Given the description of an element on the screen output the (x, y) to click on. 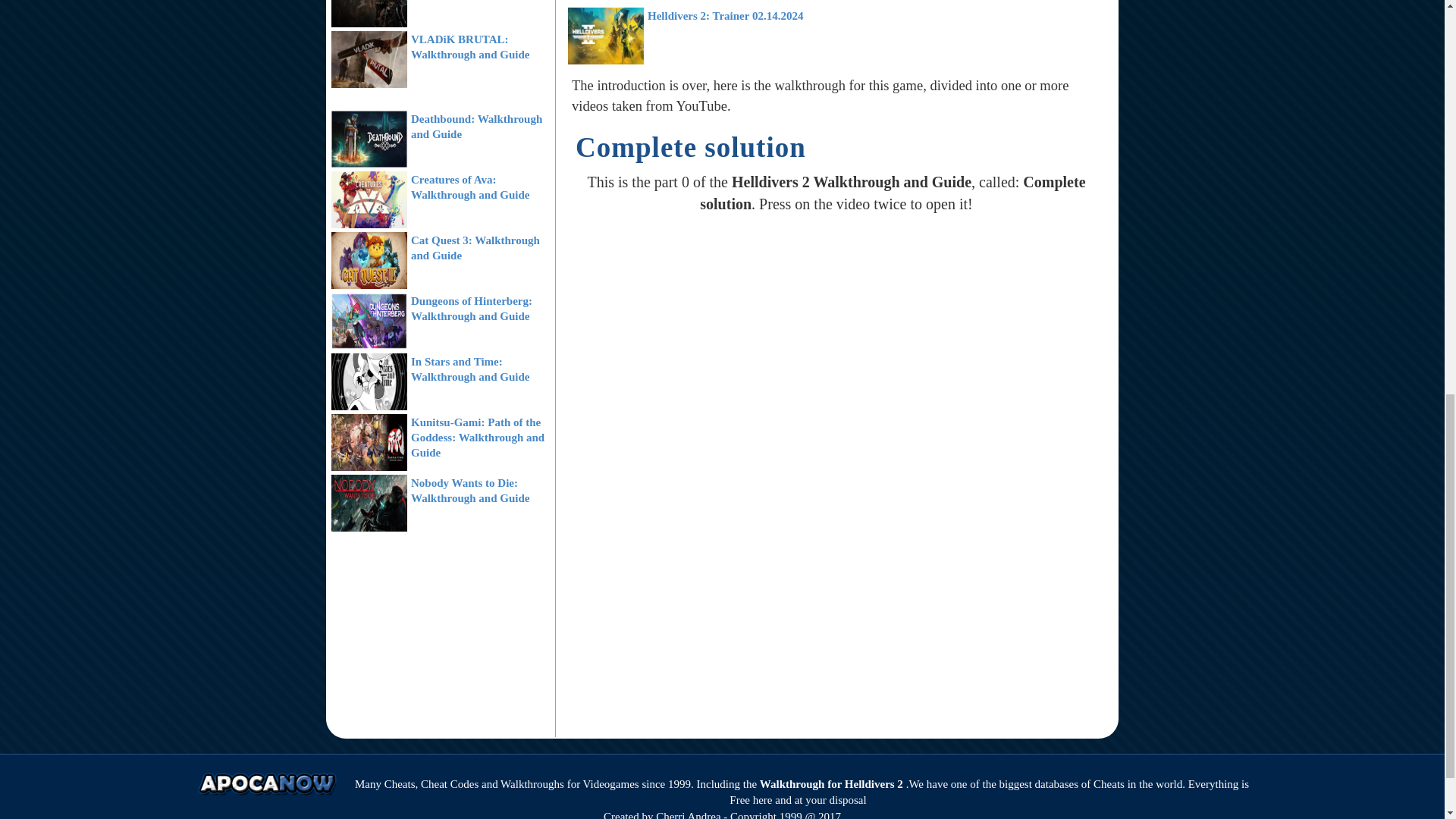
In Stars and Time: Walkthrough and Guide (469, 369)
Dungeons of Hinterberg: Walkthrough and Guide (471, 308)
Creatures of Ava: Walkthrough and Guide (469, 186)
Nobody Wants to Die: Walkthrough and Guide (469, 490)
Kunitsu-Gami: Path of the Goddess: Walkthrough and Guide (477, 437)
VLADiK BRUTAL: Walkthrough and Guide (469, 46)
Deathbound: Walkthrough and Guide (475, 126)
Helldivers 2: Trainer 02.14.2024 (725, 15)
Cat Quest 3: Walkthrough and Guide (475, 247)
Created by Cherri Andrea (662, 814)
